Given the description of an element on the screen output the (x, y) to click on. 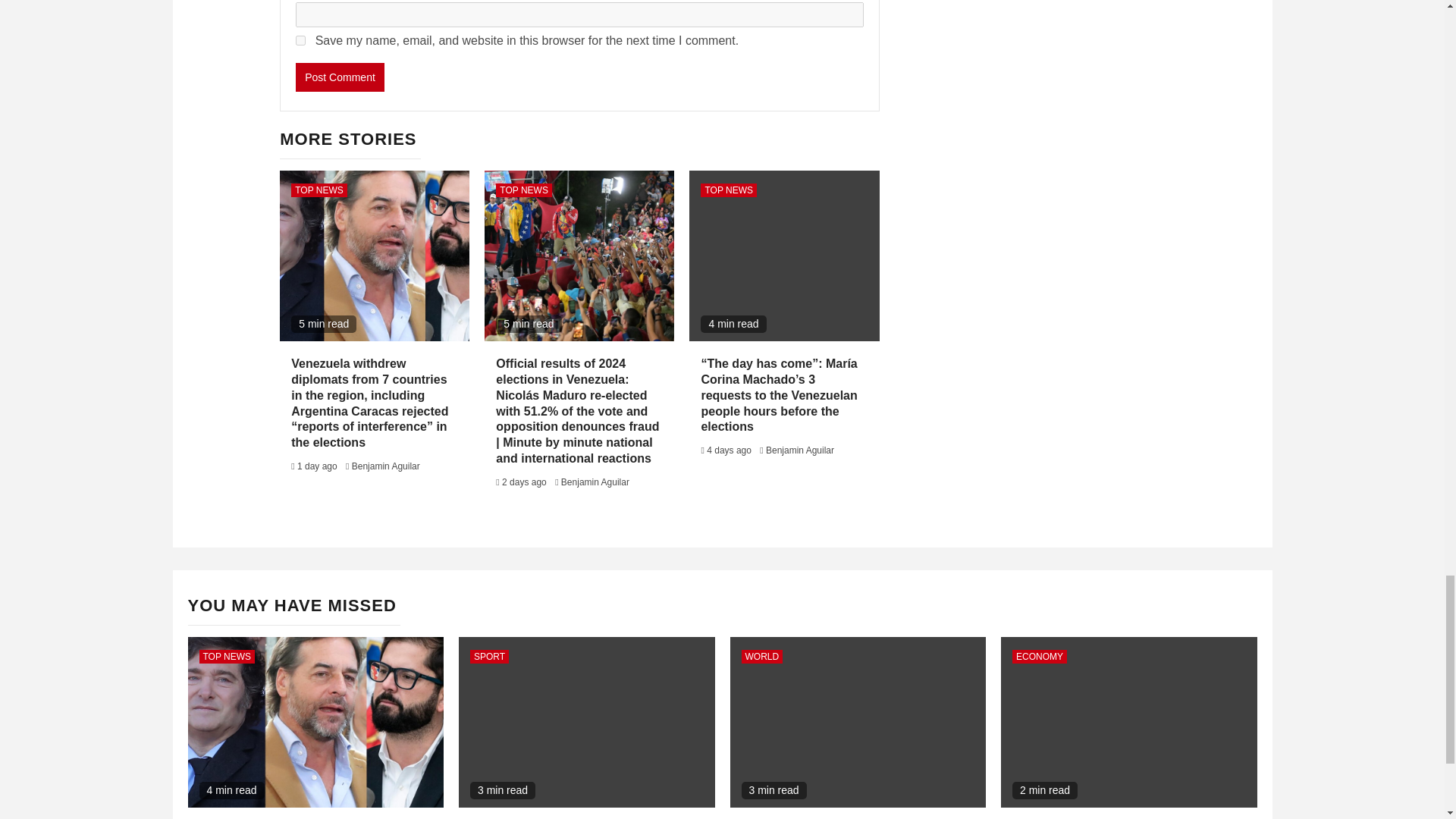
Benjamin Aguilar (799, 450)
Post Comment (339, 77)
Post Comment (339, 77)
Benjamin Aguilar (386, 466)
TOP NEWS (728, 190)
TOP NEWS (523, 190)
Benjamin Aguilar (594, 481)
yes (300, 40)
TOP NEWS (319, 190)
